Given the description of an element on the screen output the (x, y) to click on. 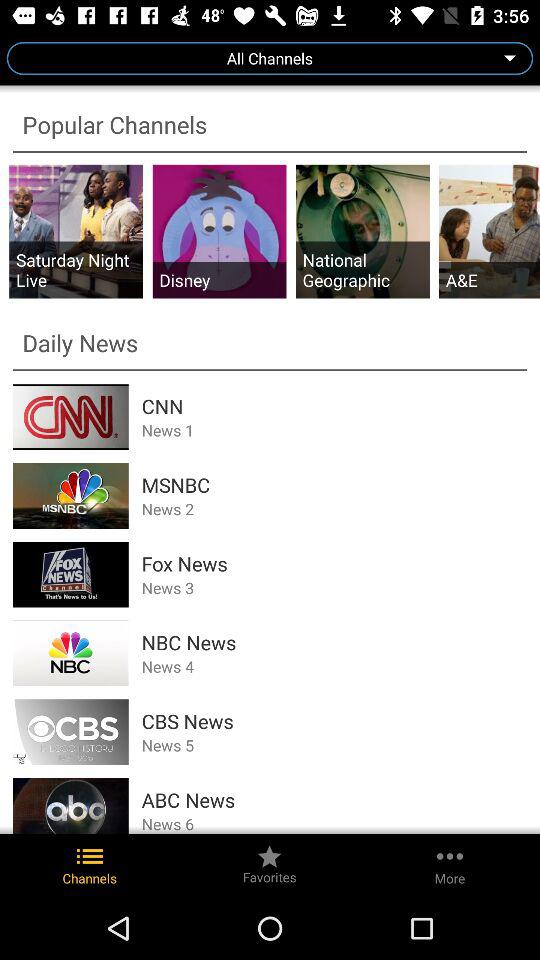
press app above cbs news app (333, 666)
